Given the description of an element on the screen output the (x, y) to click on. 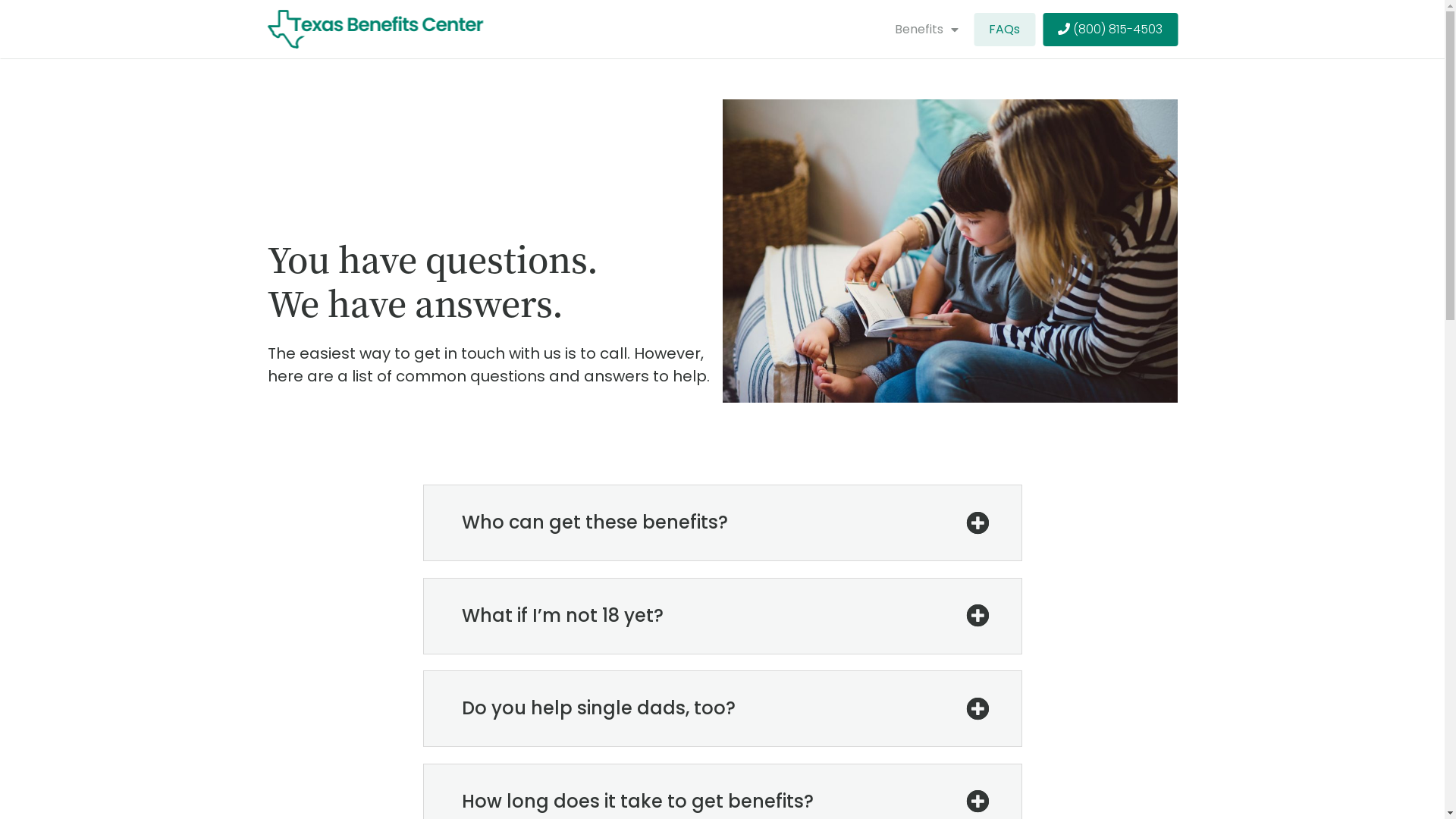
hero-faqs-1024x683 Element type: hover (948, 250)
FAQs Element type: text (1003, 29)
Benefits Element type: text (926, 29)
(800) 815-4503 Element type: text (1117, 28)
mobile-logo@2x Element type: hover (374, 28)
